Given the description of an element on the screen output the (x, y) to click on. 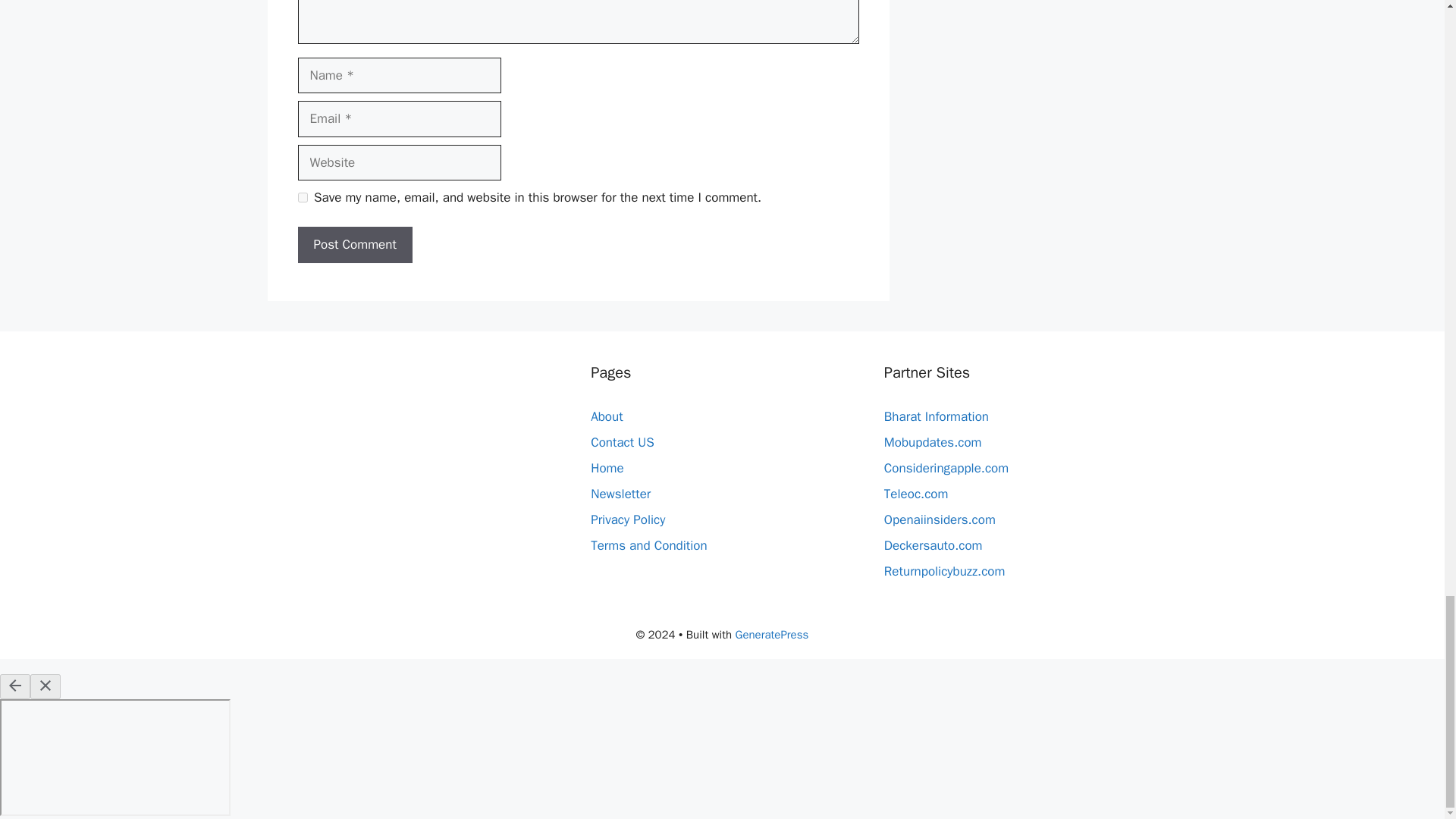
Post Comment (354, 244)
yes (302, 197)
Post Comment (354, 244)
